Given the description of an element on the screen output the (x, y) to click on. 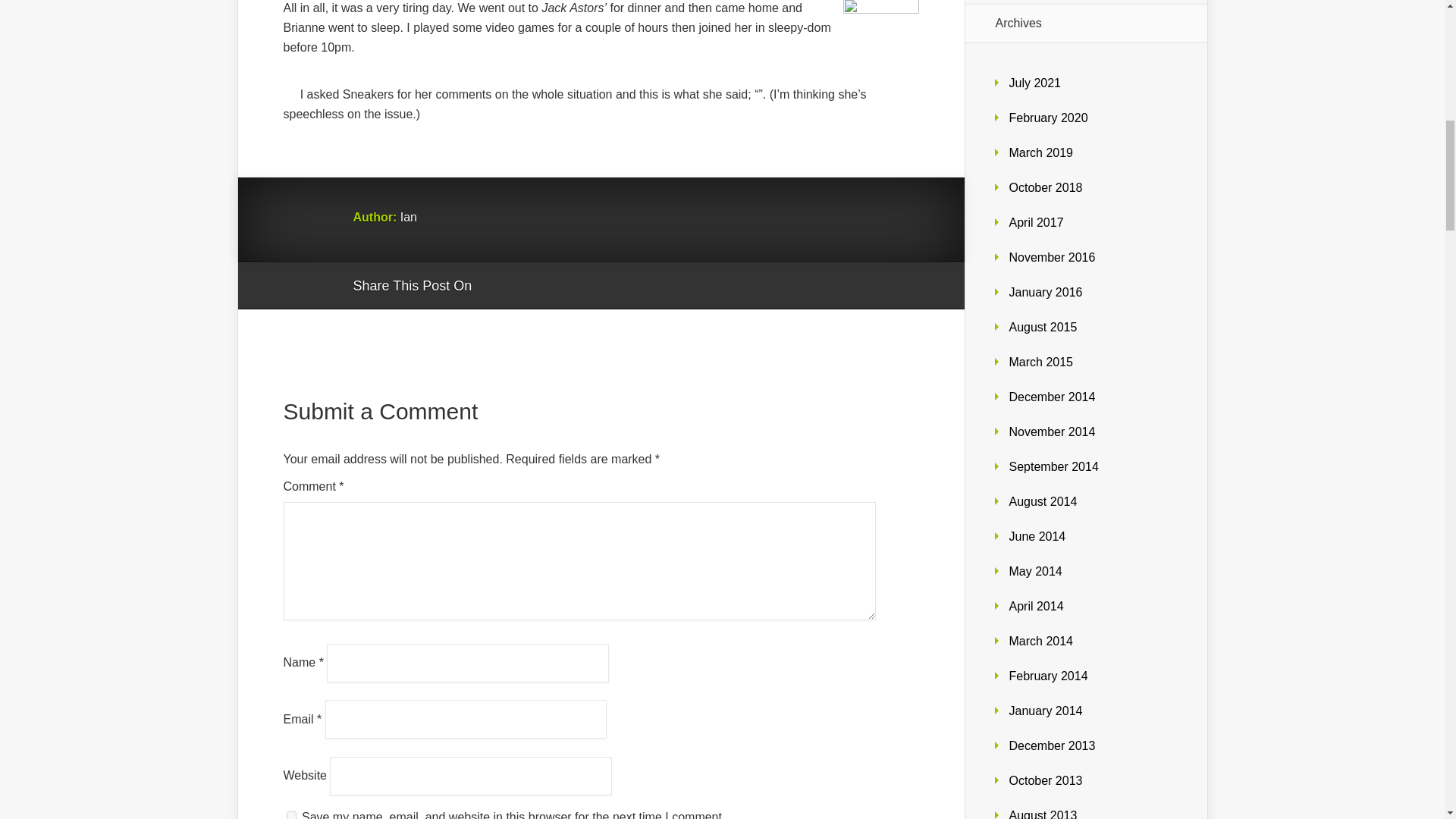
July 2021 (1035, 82)
Facebook (526, 286)
yes (291, 815)
Twitter (555, 286)
Google (498, 286)
